Given the description of an element on the screen output the (x, y) to click on. 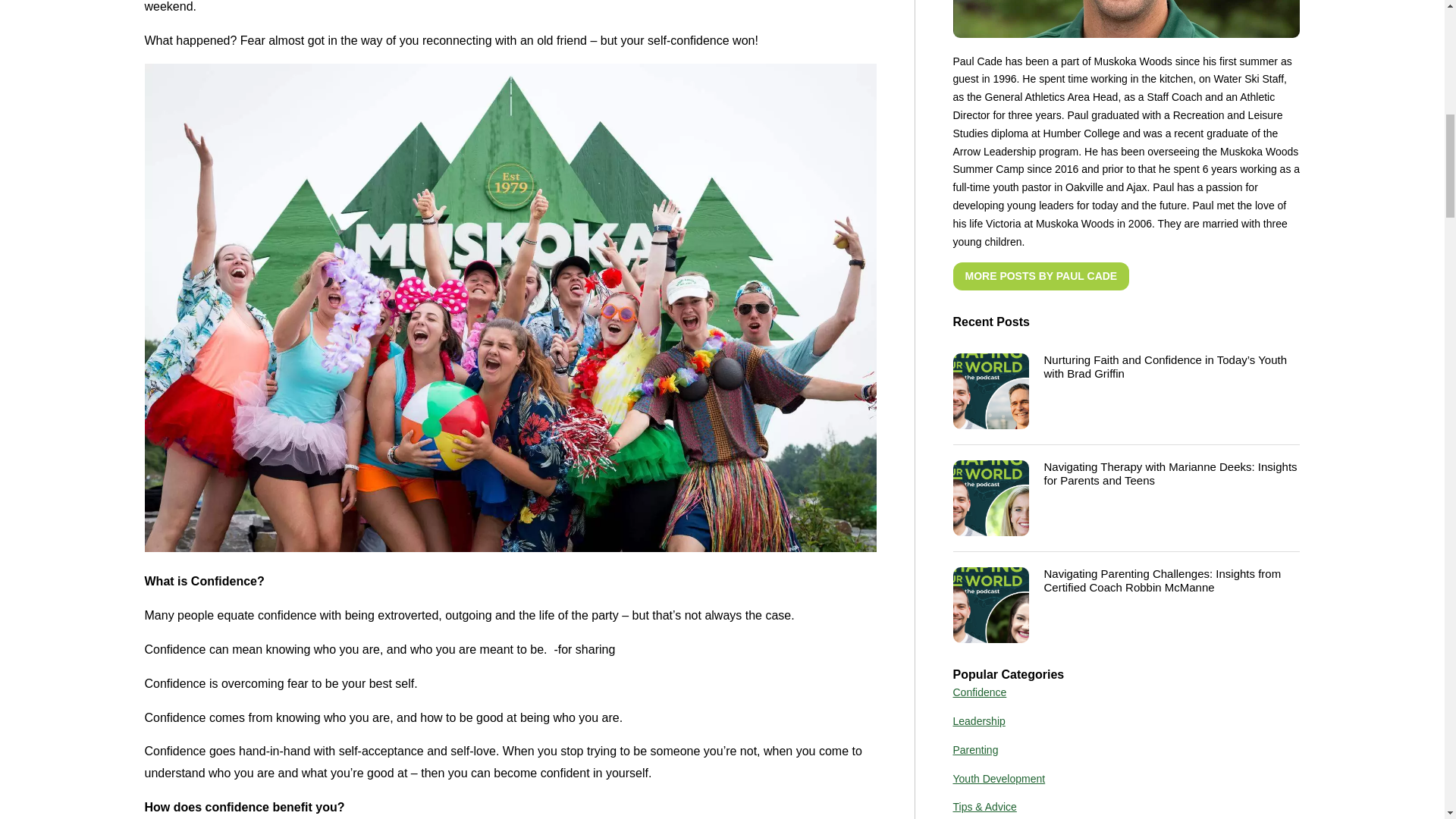
Youth Development (998, 778)
Confidence (979, 692)
MORE POSTS BY PAUL CADE (1040, 275)
Parenting (974, 749)
Leadership (978, 720)
